Given the description of an element on the screen output the (x, y) to click on. 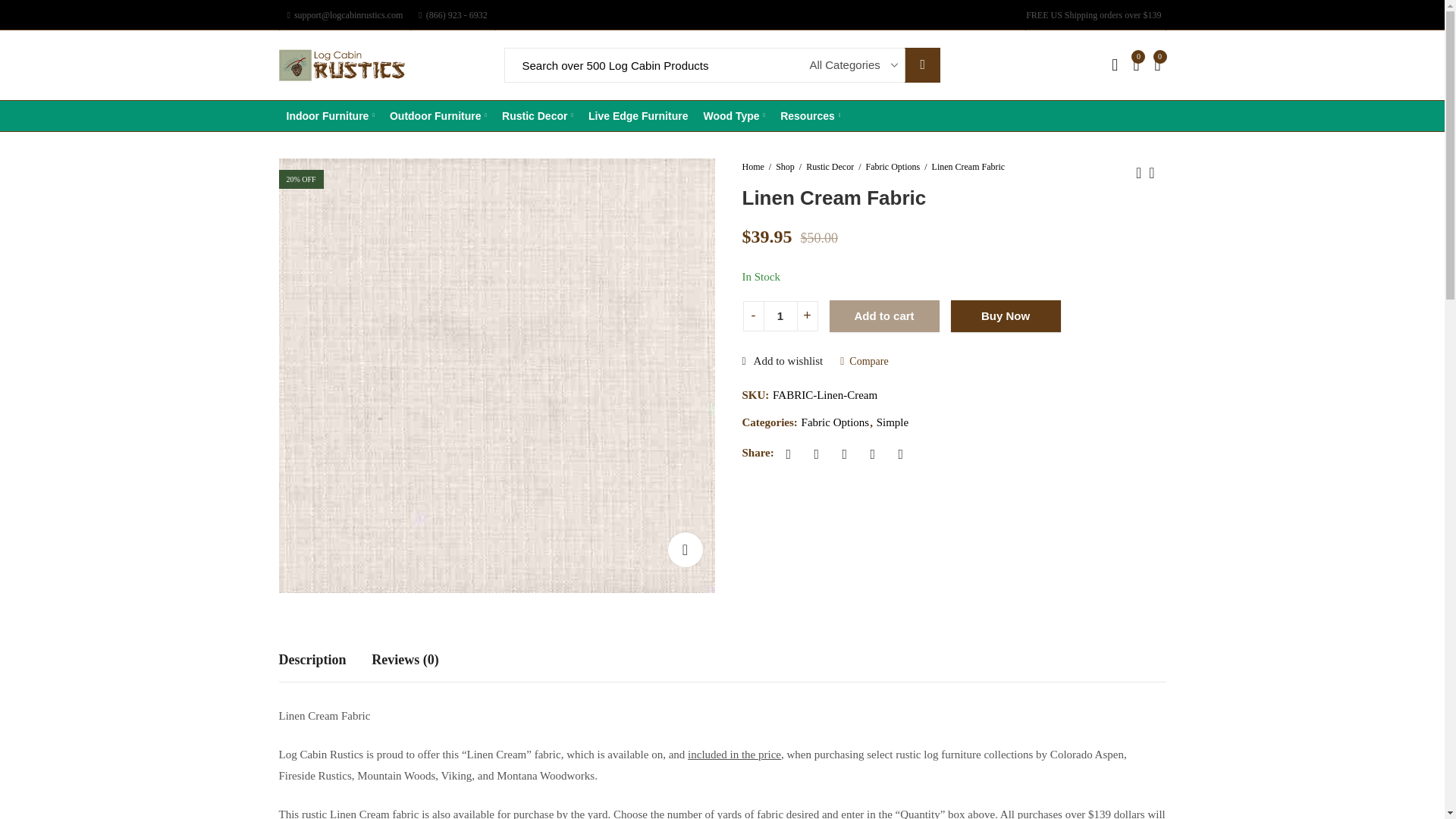
- (752, 316)
Search (922, 64)
Indoor Furniture (330, 115)
0 (1135, 65)
1 (779, 316)
0 (1160, 65)
Qty (779, 316)
